Given the description of an element on the screen output the (x, y) to click on. 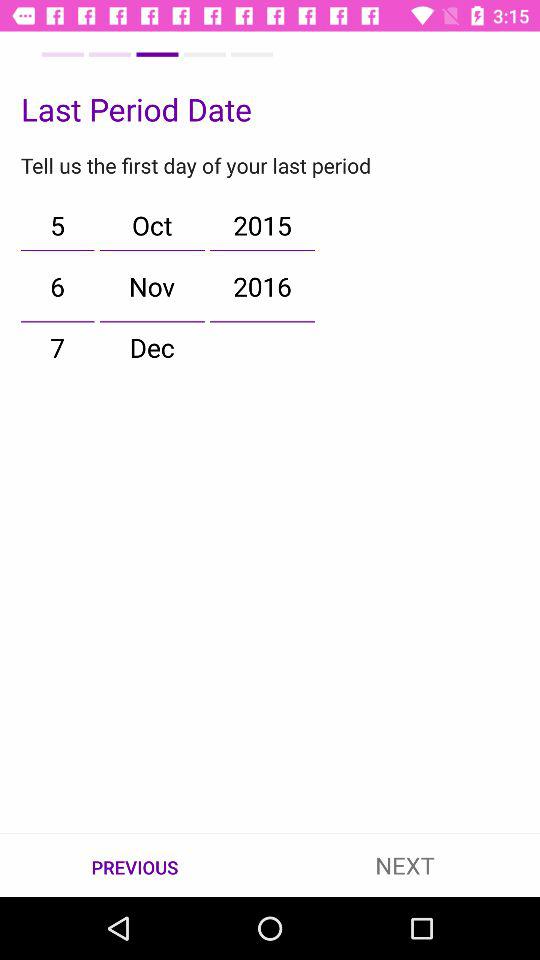
open icon next to next item (135, 865)
